Given the description of an element on the screen output the (x, y) to click on. 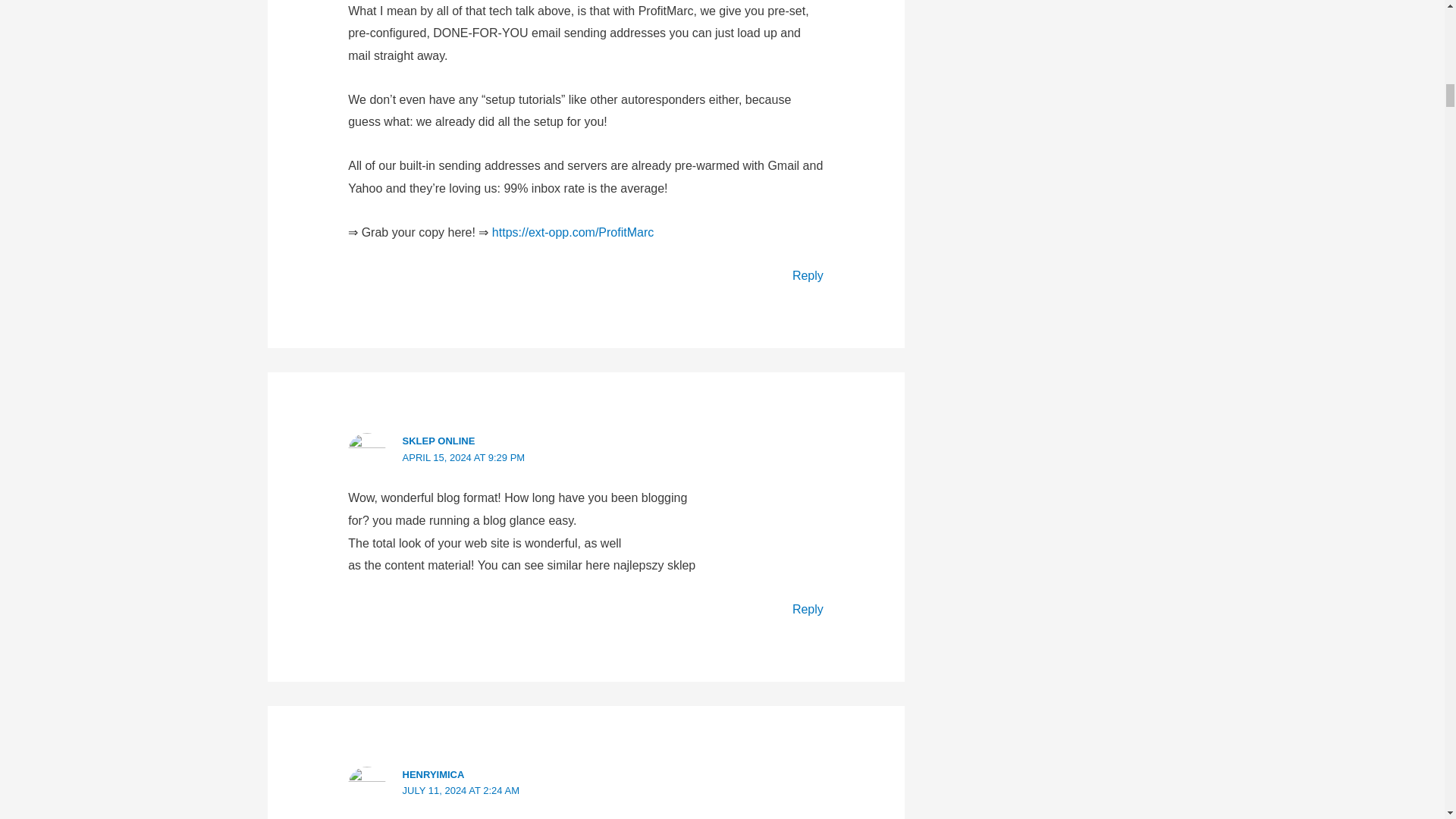
Reply (808, 275)
SKLEP ONLINE (439, 440)
JULY 11, 2024 AT 2:24 AM (461, 790)
Reply (808, 608)
APRIL 15, 2024 AT 9:29 PM (464, 457)
